Given the description of an element on the screen output the (x, y) to click on. 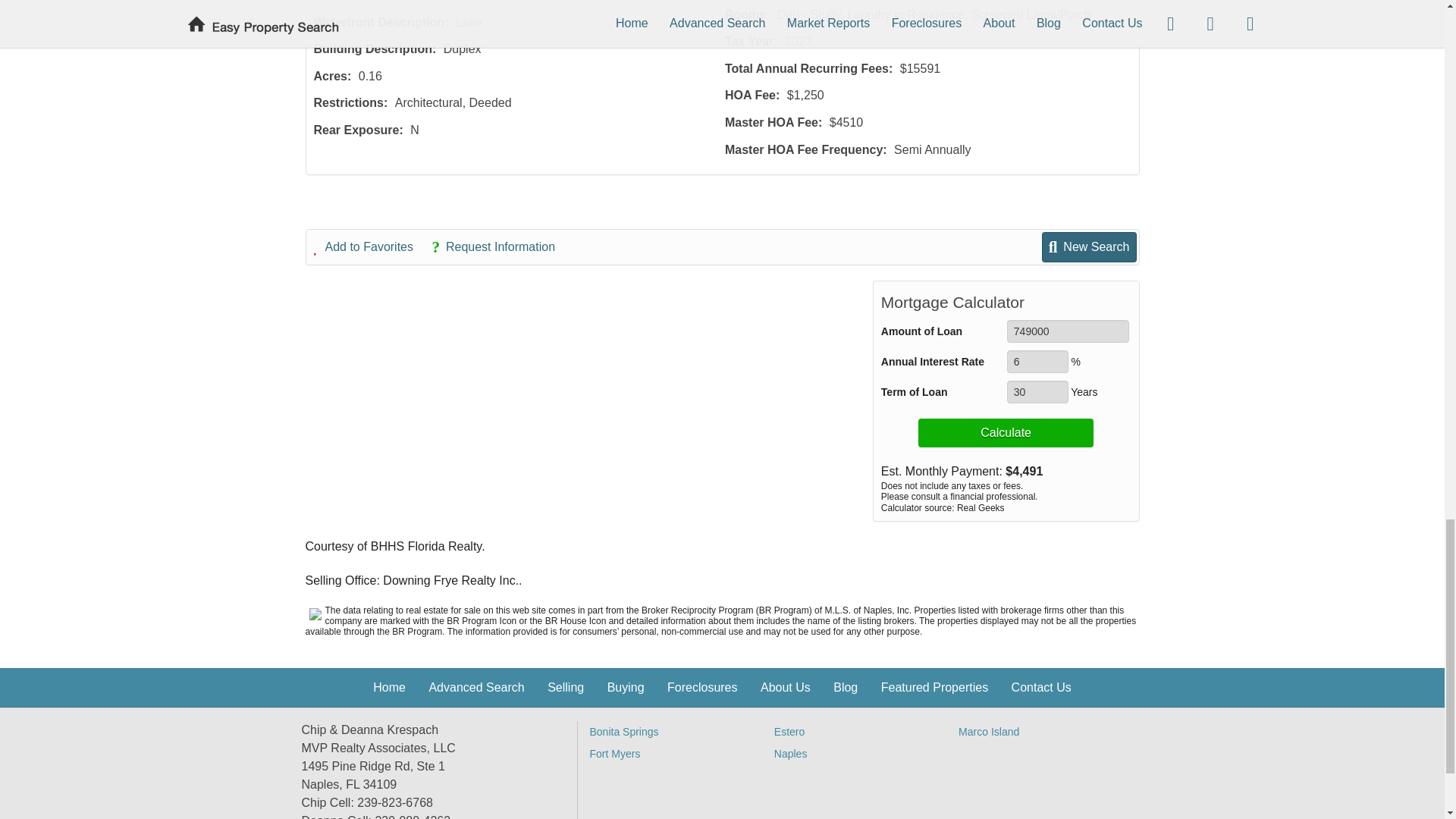
6 (1037, 361)
30 (1037, 391)
749000 (1068, 331)
